Given the description of an element on the screen output the (x, y) to click on. 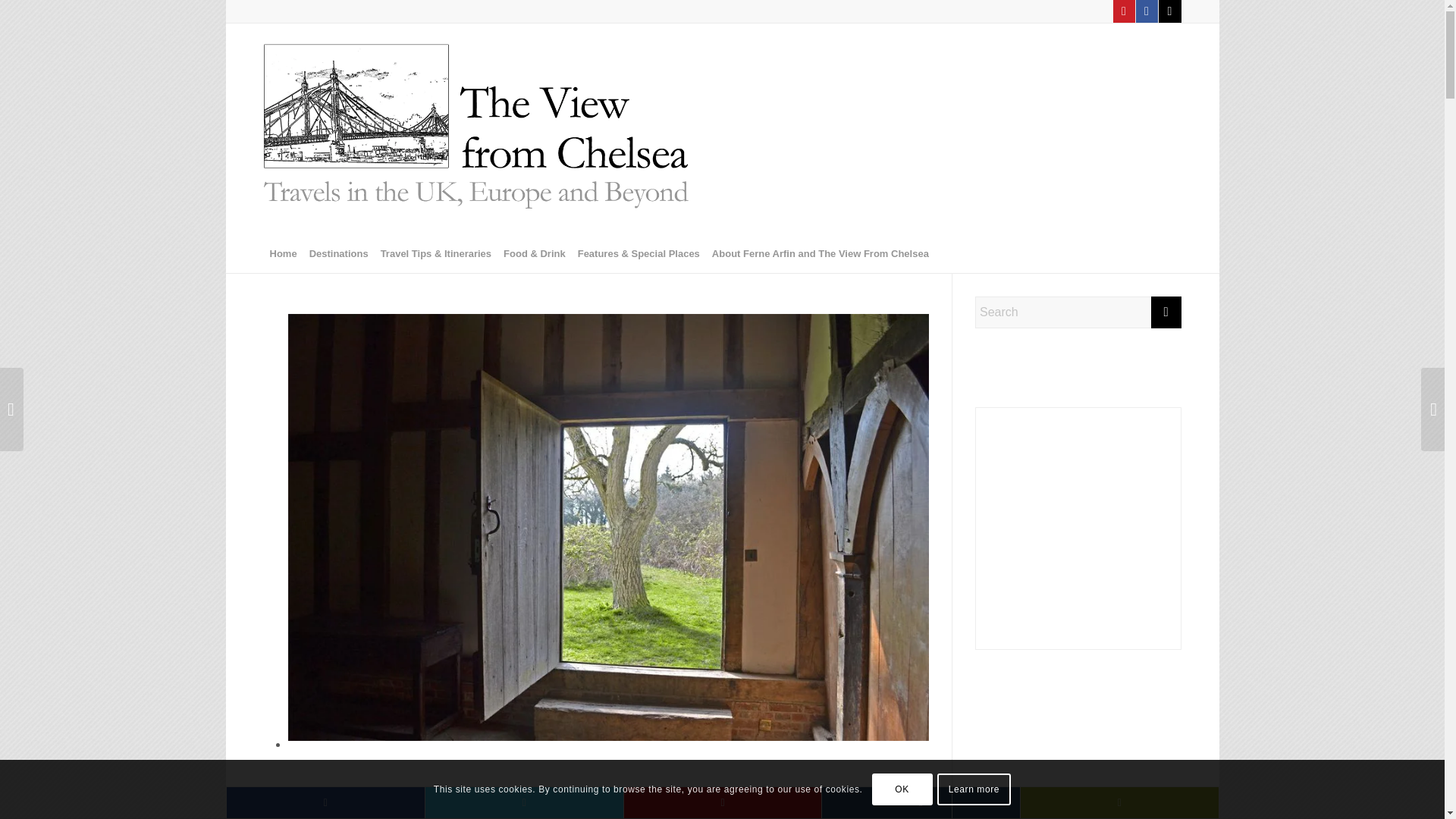
Home (282, 253)
Destinations (338, 253)
The-view-from-chelsea-logo-black-2 (475, 128)
About Ferne Arfin and The View From Chelsea (820, 253)
